Given the description of an element on the screen output the (x, y) to click on. 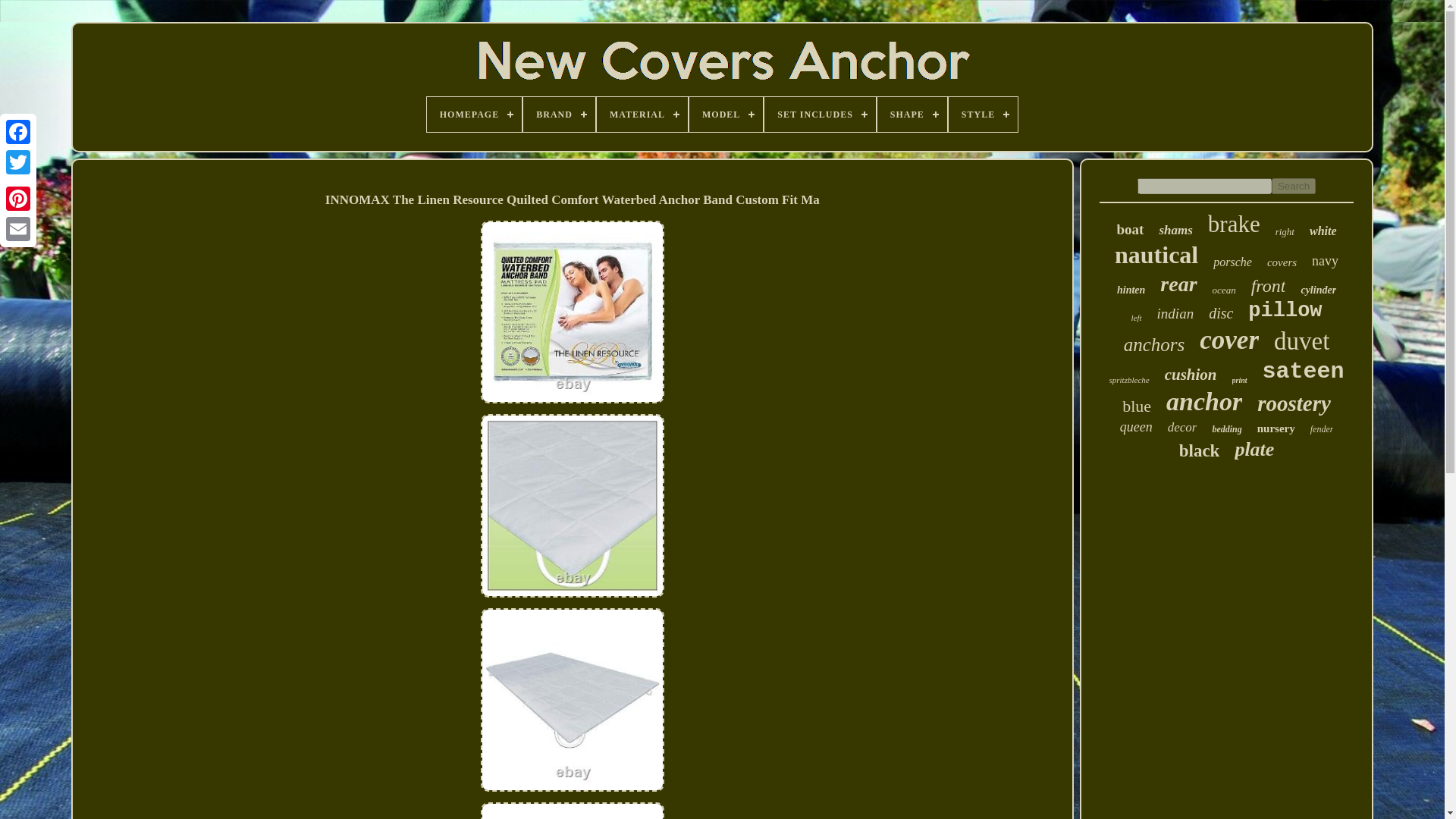
Search (1293, 186)
BRAND (558, 114)
MATERIAL (641, 114)
HOMEPAGE (473, 114)
